Given the description of an element on the screen output the (x, y) to click on. 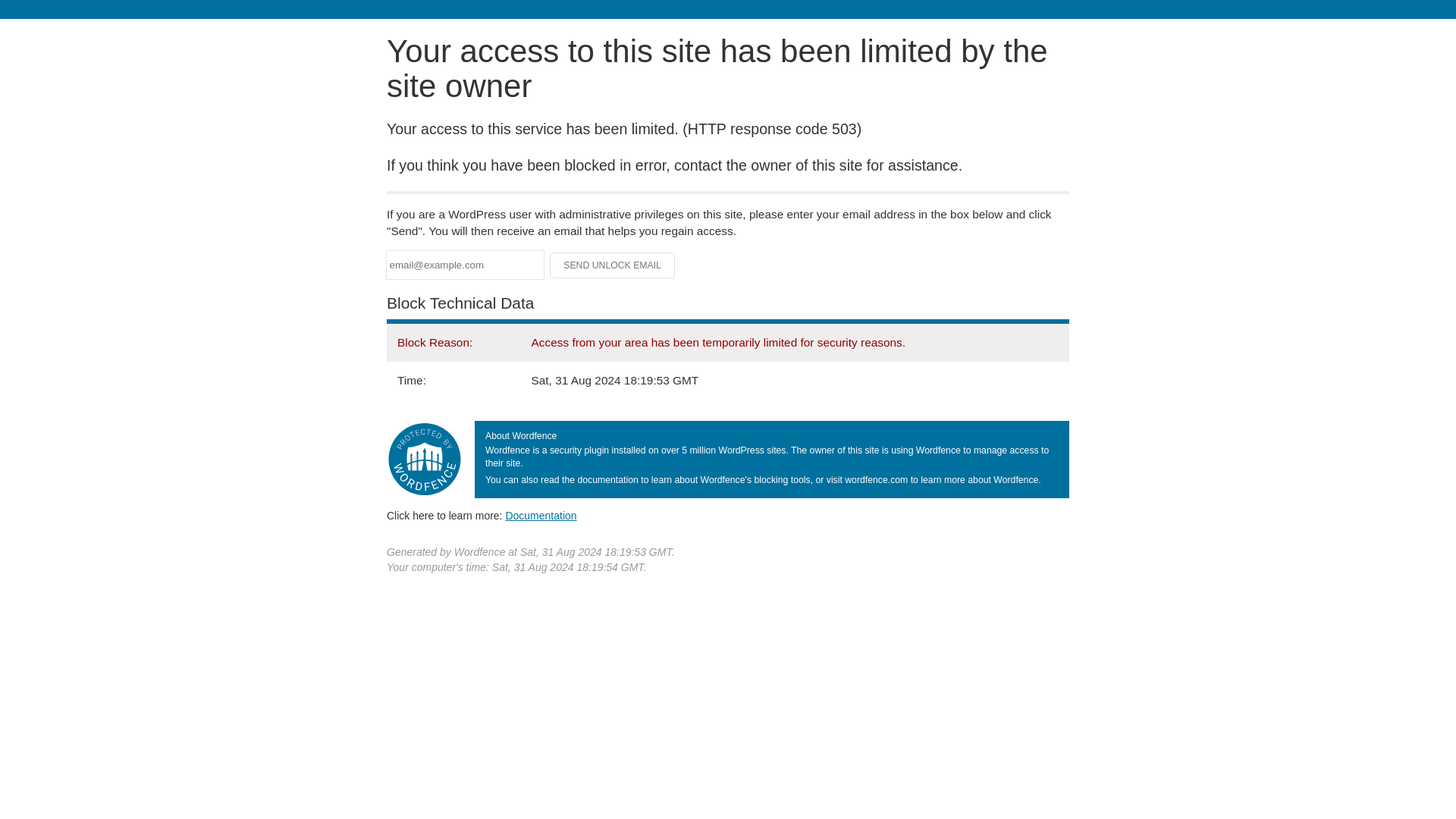
Send Unlock Email (612, 265)
Documentation (540, 515)
Send Unlock Email (612, 265)
